Given the description of an element on the screen output the (x, y) to click on. 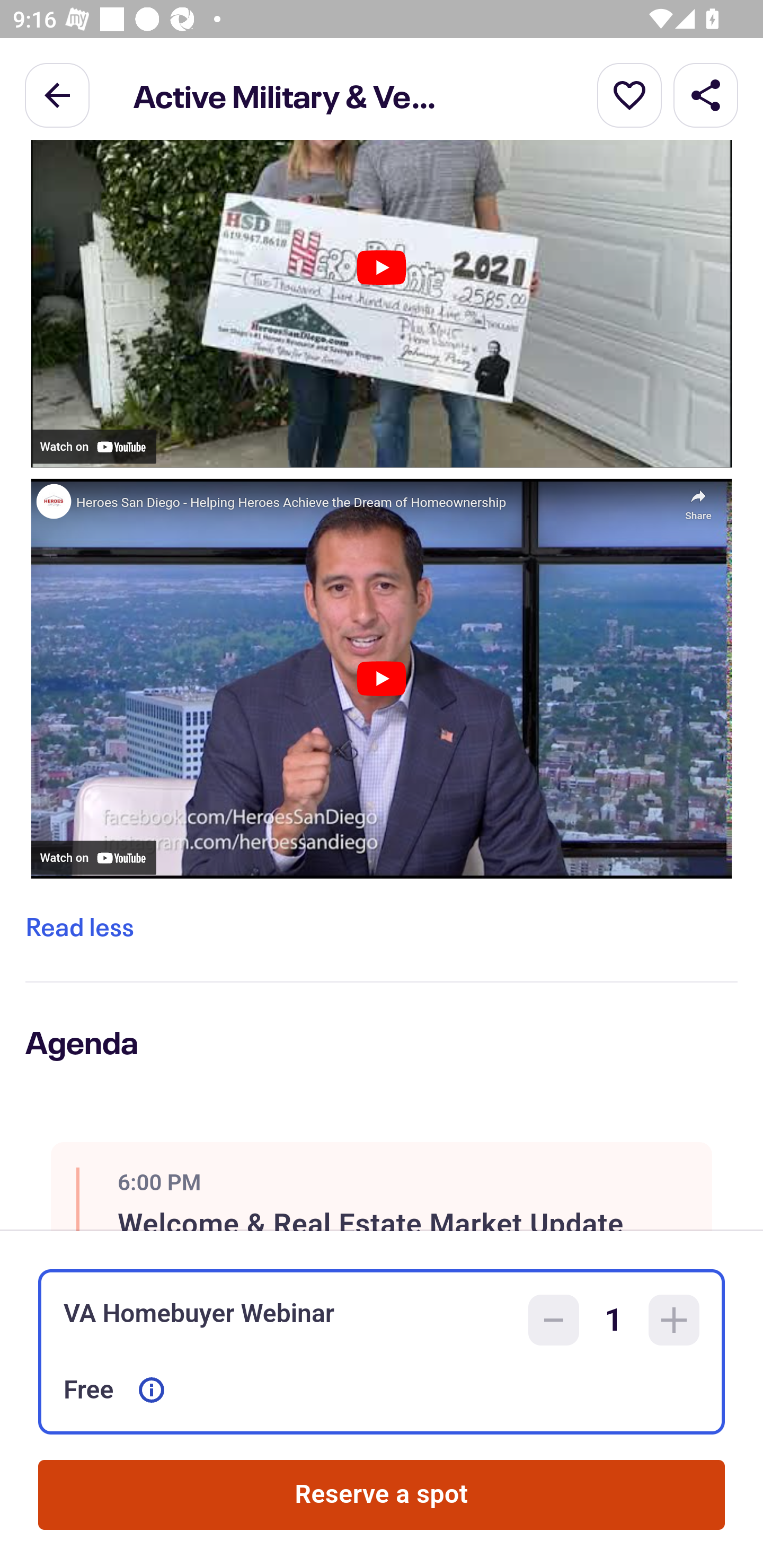
Back (57, 94)
More (629, 94)
Share (705, 94)
Play (380, 267)
Watch on YouTube (93, 446)
Share (697, 500)
Photo image of Heroes San Diego (52, 500)
Play (380, 678)
Watch on YouTube (93, 857)
Read less (79, 926)
Decrease (553, 1320)
Increase (673, 1320)
Show more information (151, 1389)
Reserve a spot (381, 1494)
